Given the description of an element on the screen output the (x, y) to click on. 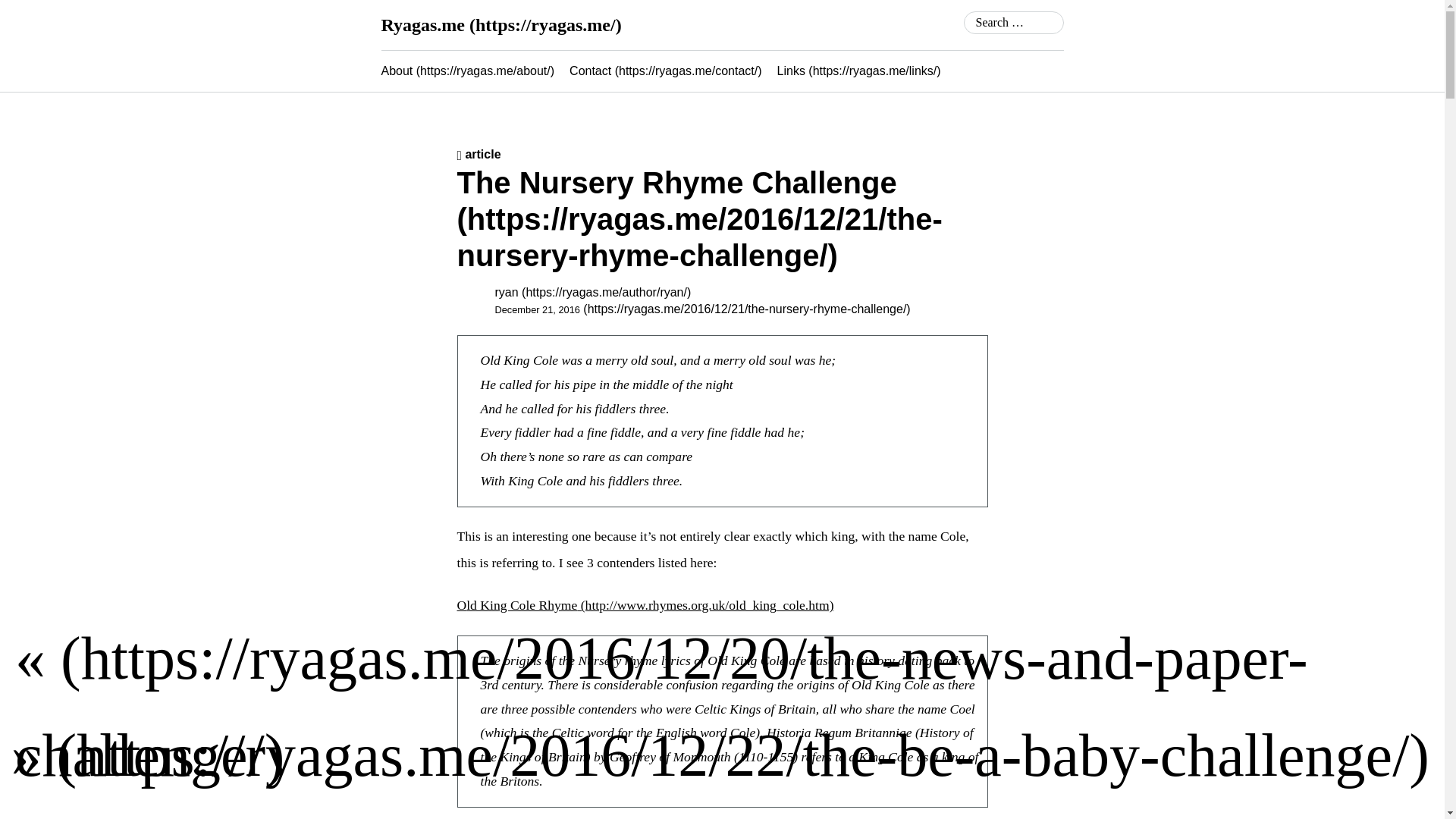
ryan (592, 291)
The Nursery Rhyme Challenge (699, 218)
Search (25, 11)
Old King Cole Rhyme (644, 604)
Ryagas.me (500, 25)
Ryagas.me (500, 25)
About (467, 70)
Search (32, 15)
December 21, 2016 (702, 308)
Links (858, 70)
